Given the description of an element on the screen output the (x, y) to click on. 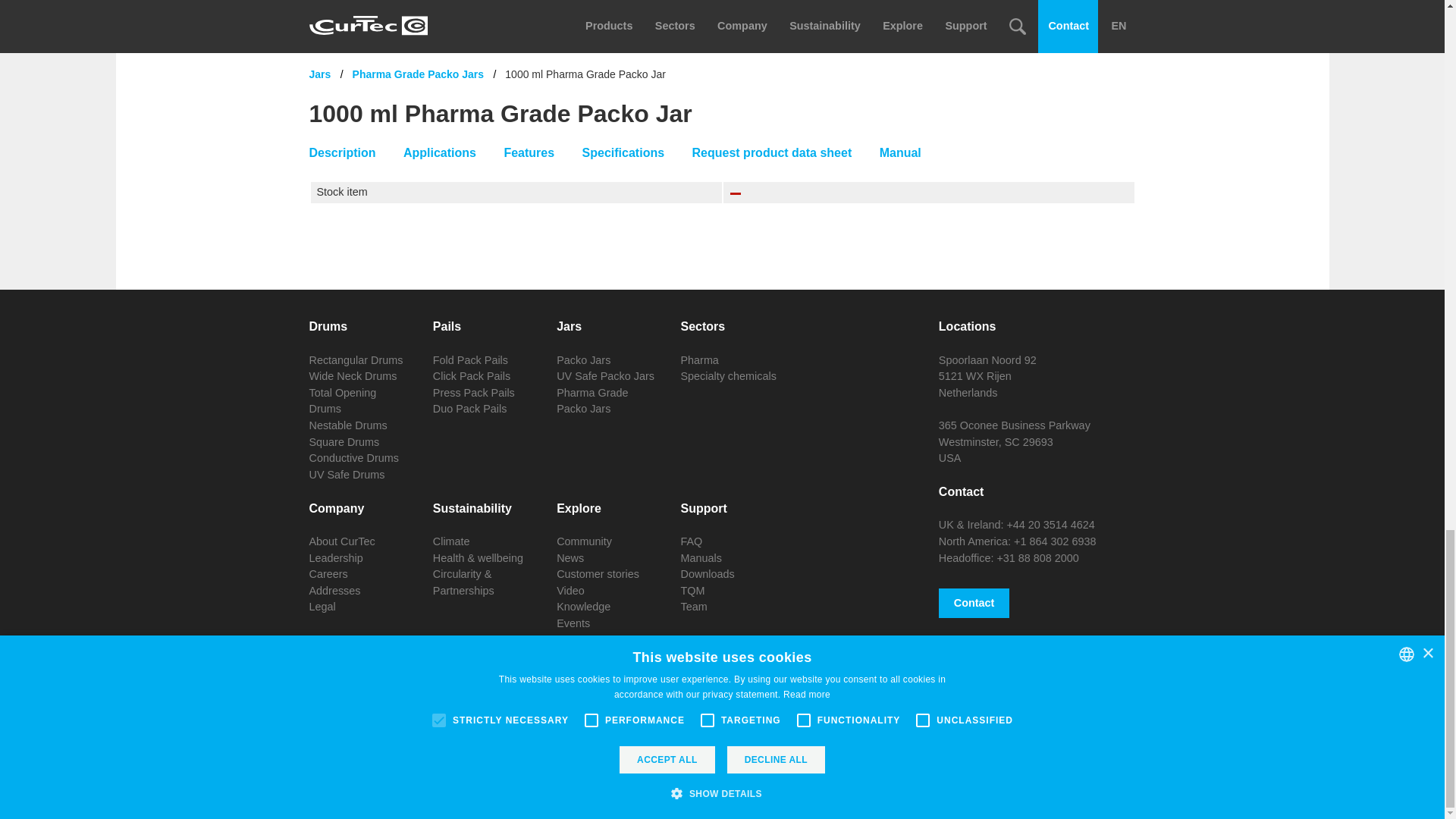
Contact (974, 603)
